Given the description of an element on the screen output the (x, y) to click on. 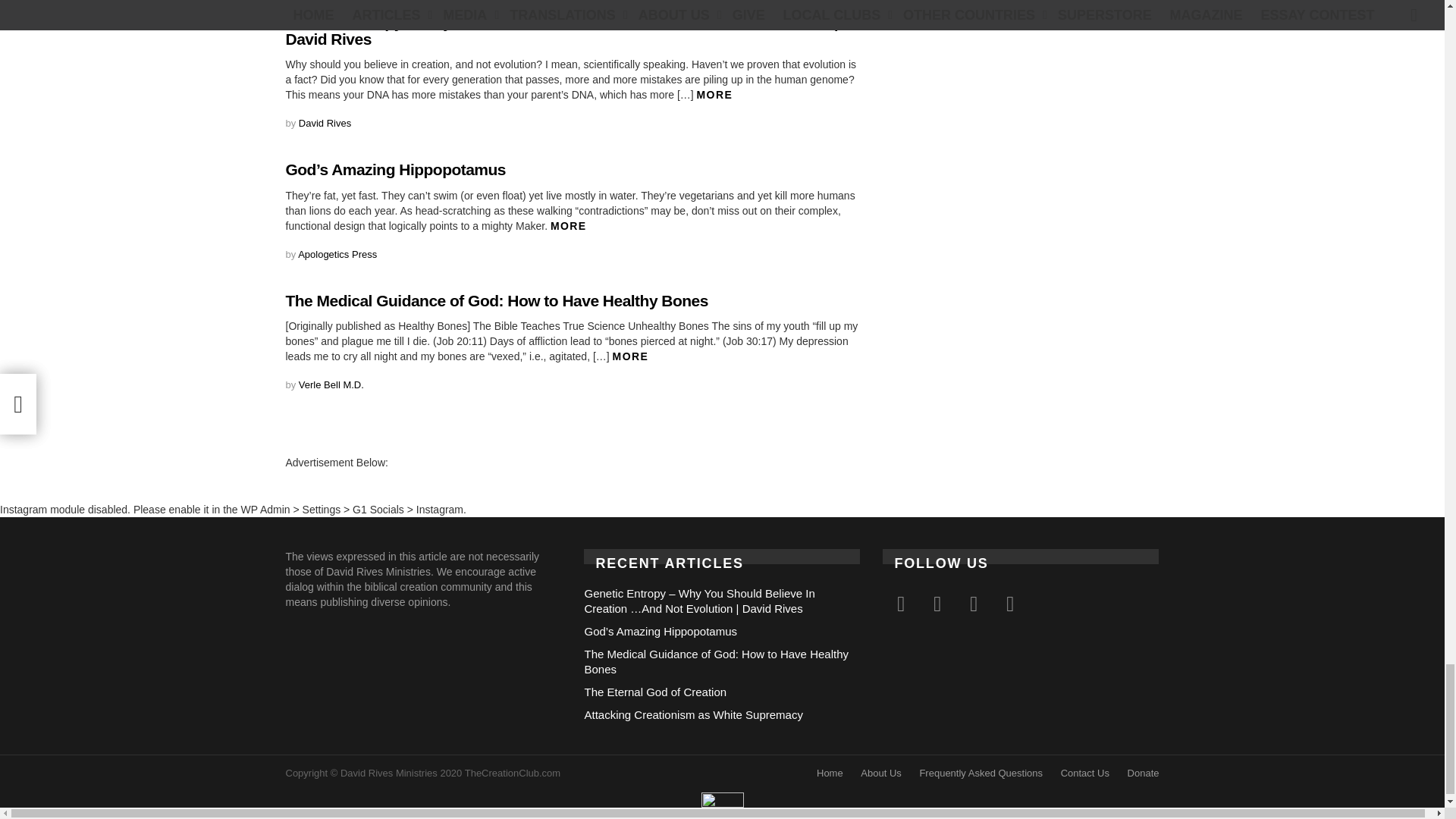
Posts by David Rives (324, 122)
Posts by Apologetics Press (337, 254)
Posts by Verle Bell M.D. (331, 384)
